Given the description of an element on the screen output the (x, y) to click on. 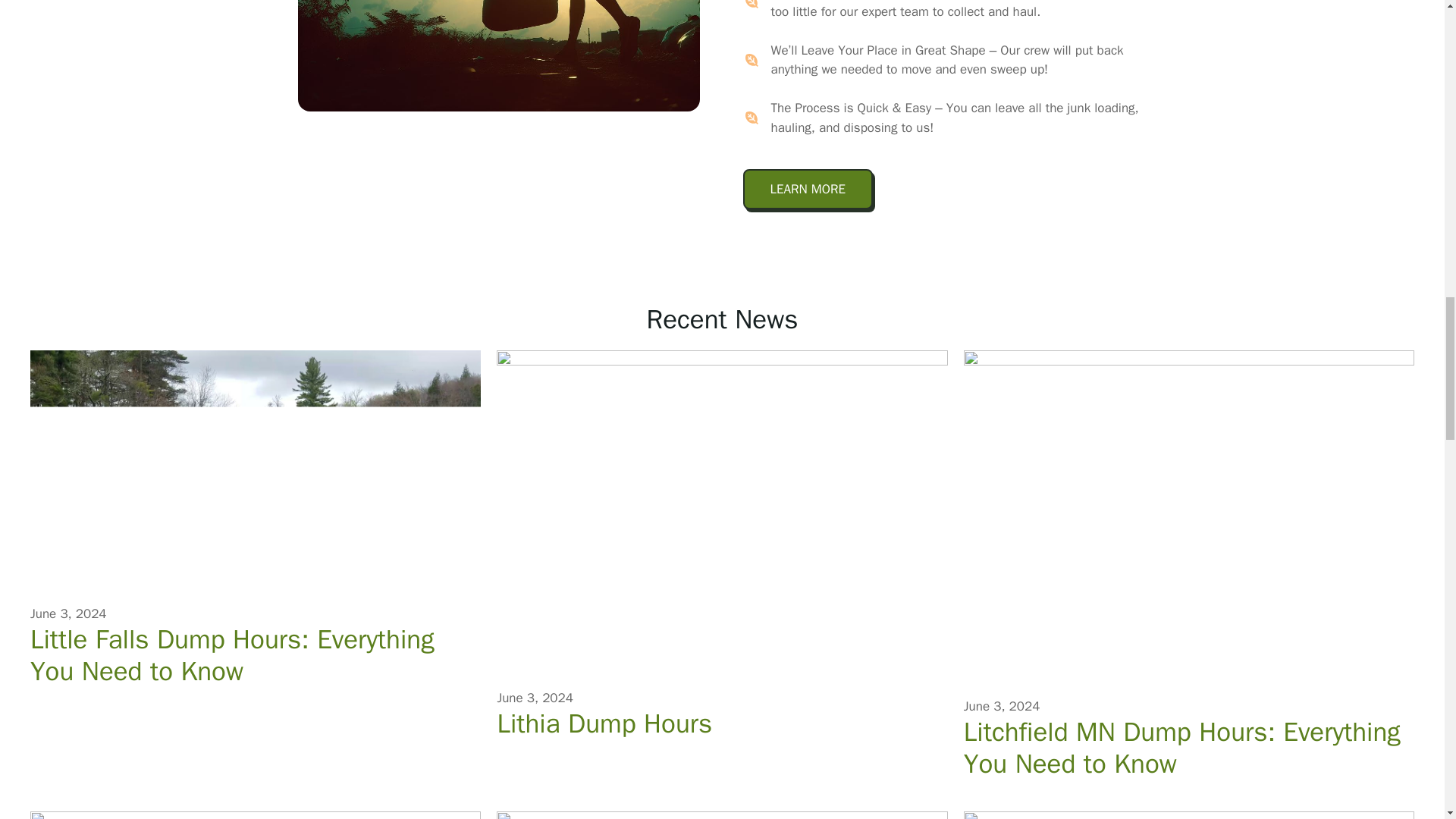
Little Falls Dump Hours: Everything You Need to Know (255, 655)
LEARN MORE (807, 188)
Lithia Dump Hours (603, 723)
man-take-junk (497, 55)
Litchfield MN Dump Hours: Everything You Need to Know (1188, 747)
